Given the description of an element on the screen output the (x, y) to click on. 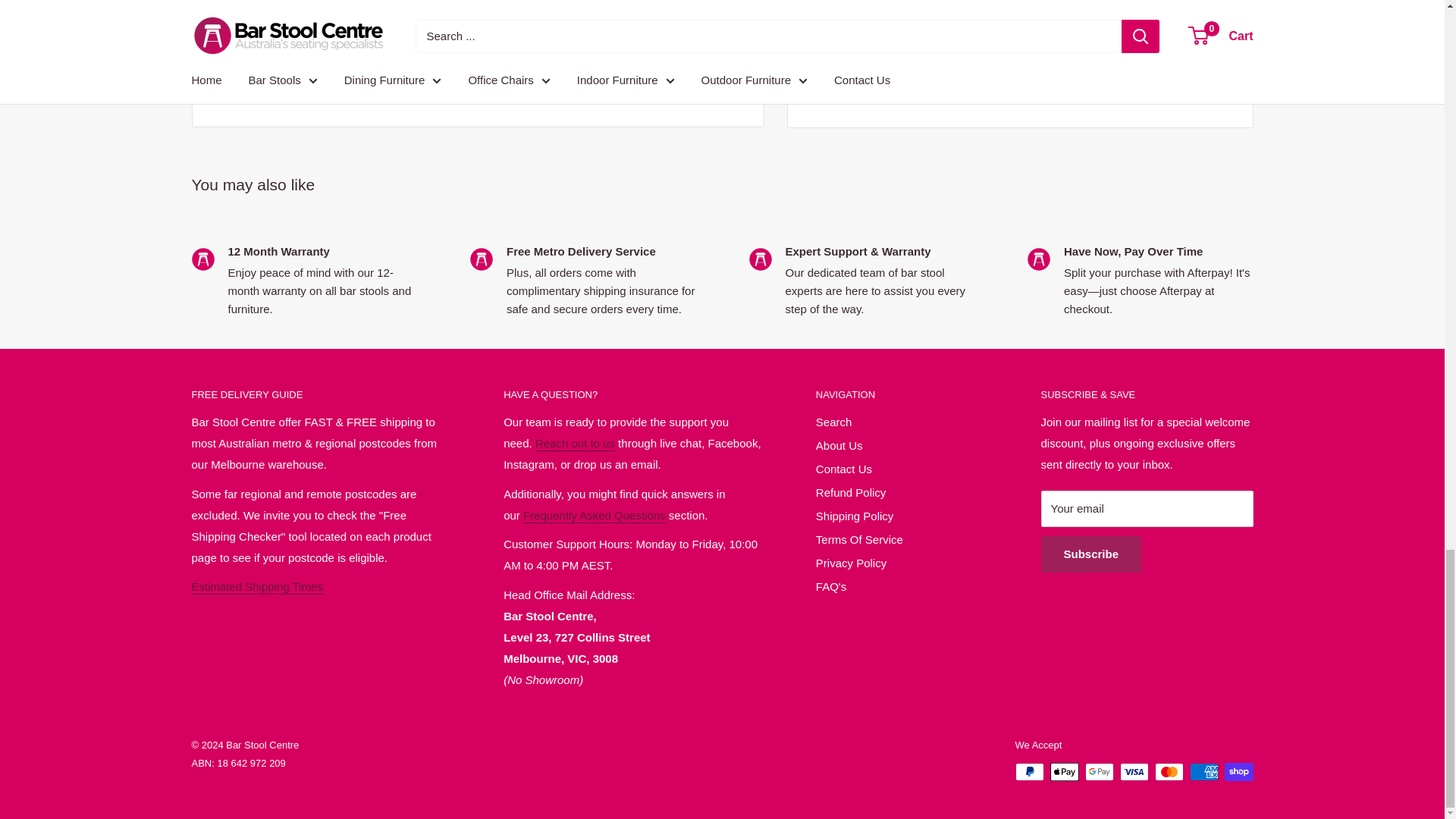
Contact Bar Stool Centre (574, 442)
Frequently Asked Questions (593, 514)
Estimated Shipping Times (255, 585)
